Given the description of an element on the screen output the (x, y) to click on. 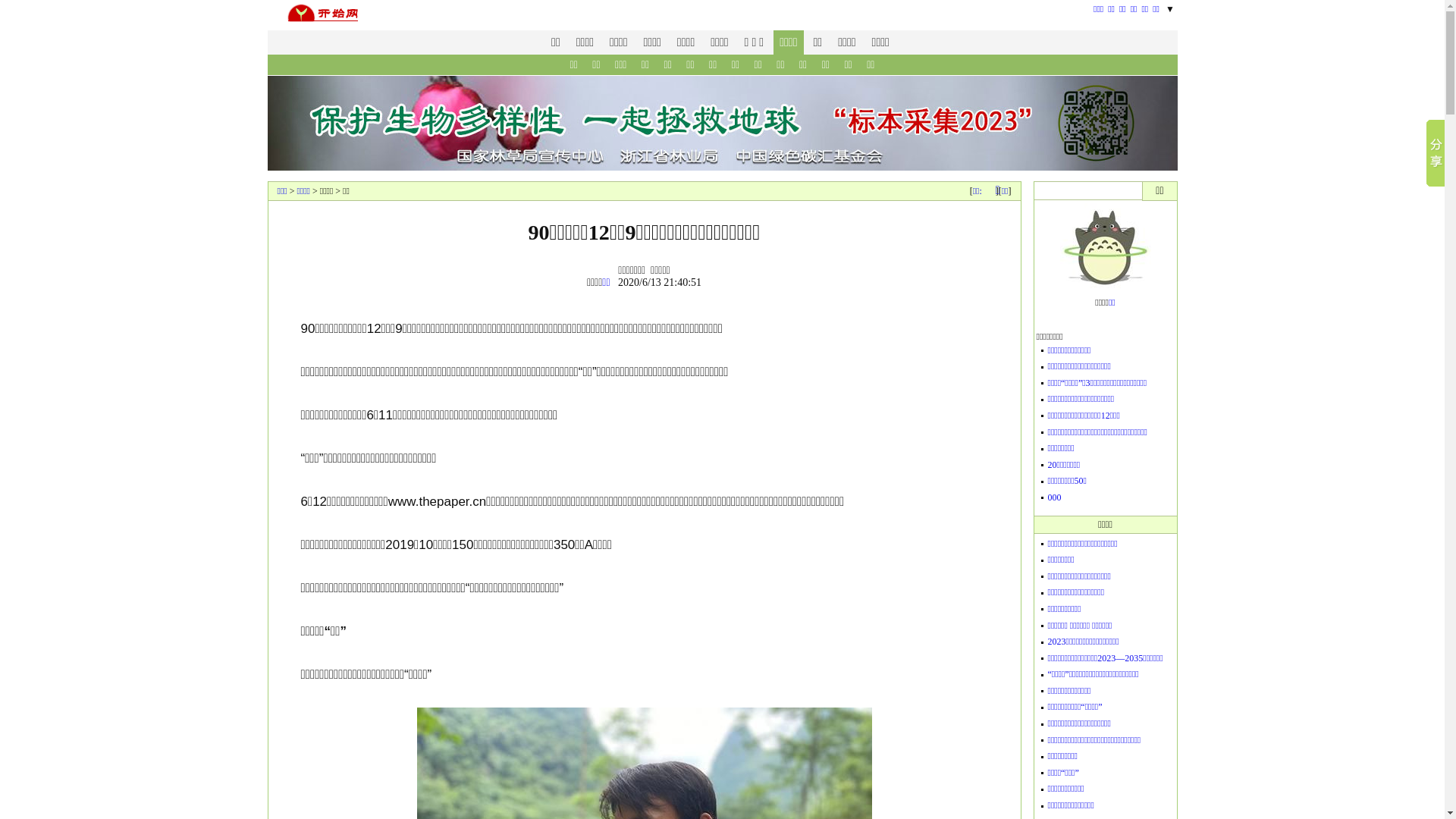
000 Element type: text (1054, 497)
